Given the description of an element on the screen output the (x, y) to click on. 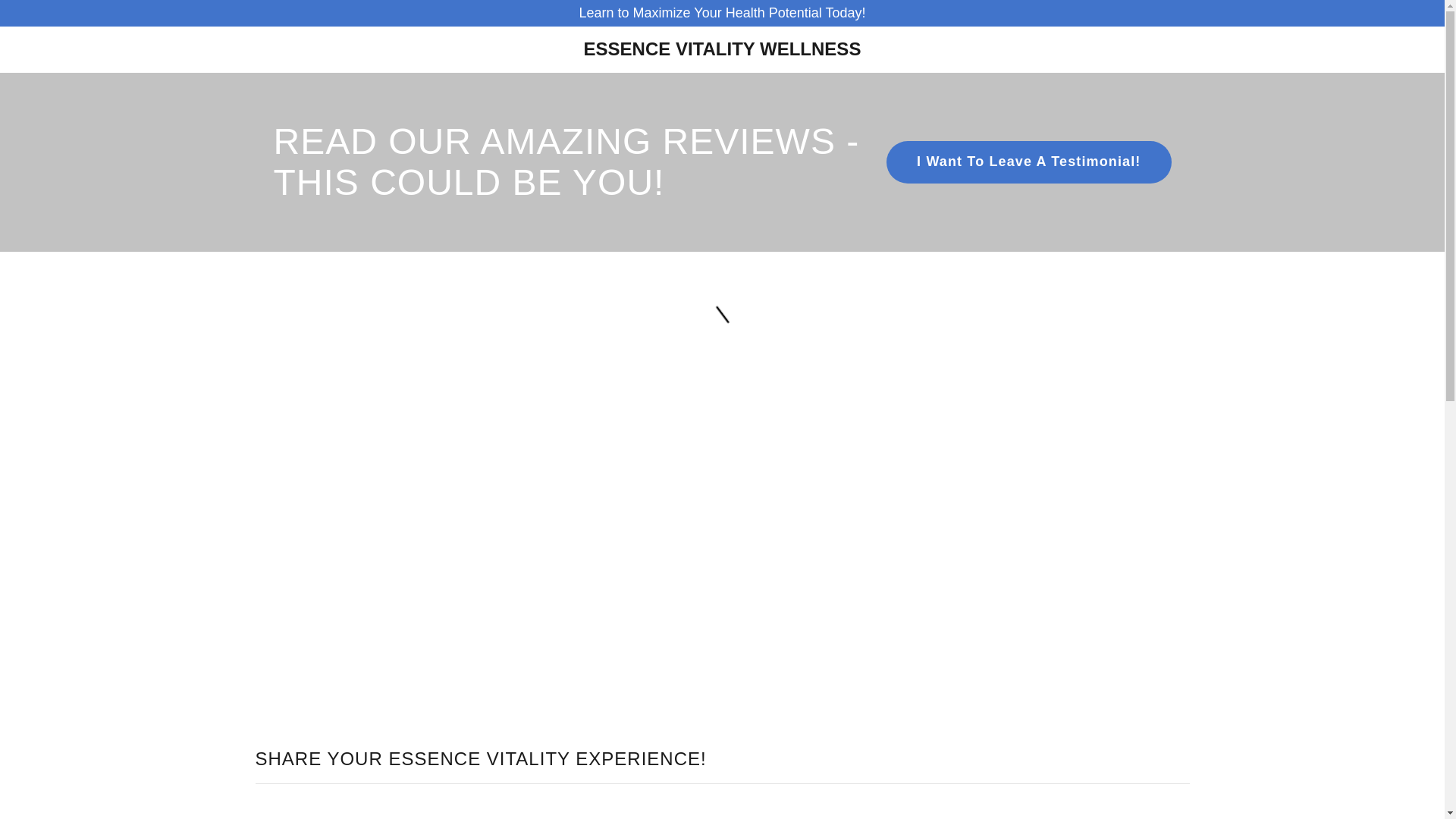
ESSENCE VITALITY WELLNESS (721, 50)
ESSENCE VITALITY WELLNESS (721, 50)
